Given the description of an element on the screen output the (x, y) to click on. 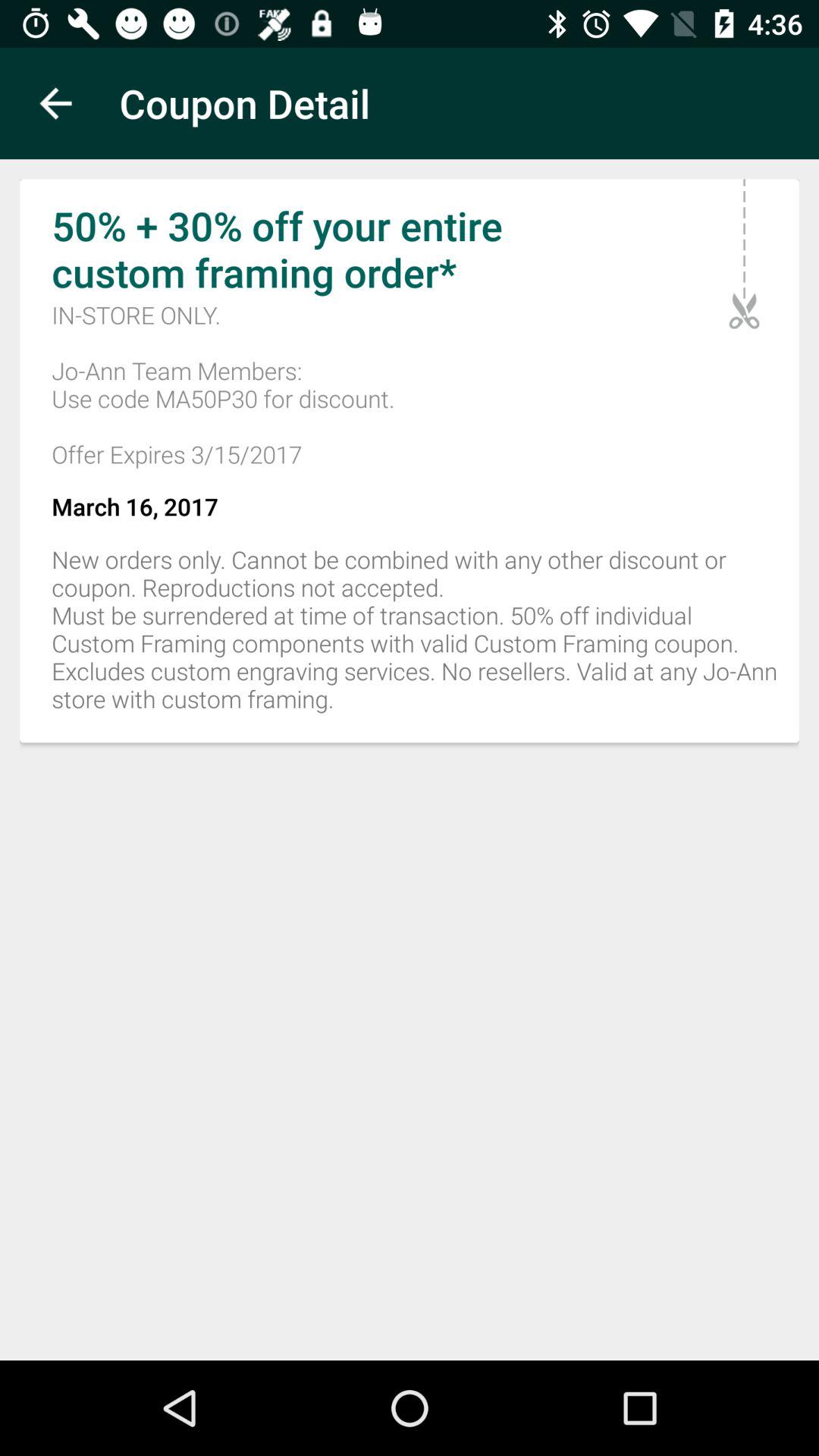
select item above 50 30 off icon (55, 103)
